Given the description of an element on the screen output the (x, y) to click on. 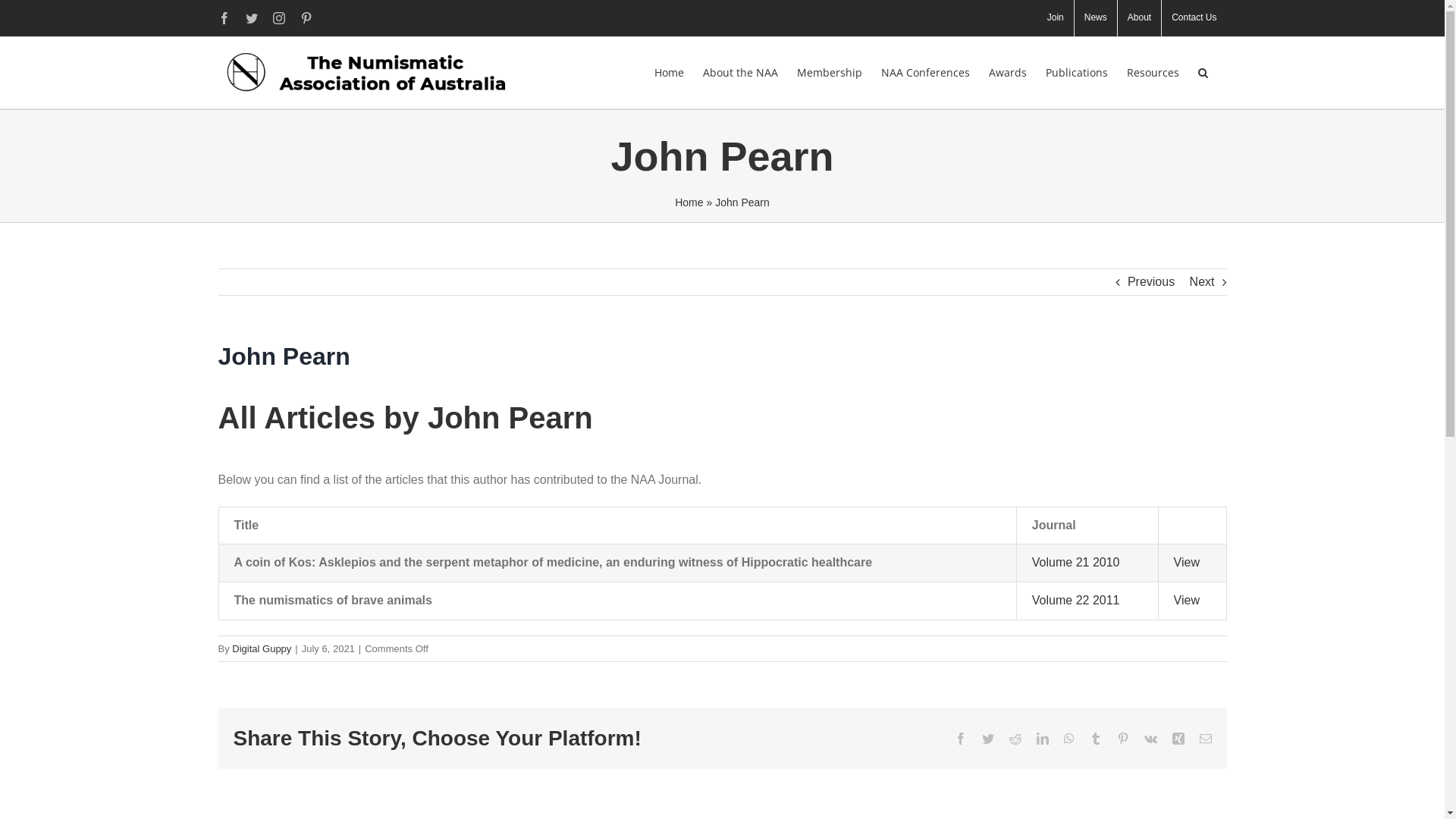
WhatsApp Element type: text (1068, 738)
Home Element type: text (668, 72)
LinkedIn Element type: text (1041, 738)
Xing Element type: text (1178, 738)
Pinterest Element type: text (306, 18)
News Element type: text (1095, 18)
Previous Element type: text (1150, 281)
Facebook Element type: text (959, 738)
Instagram Element type: text (279, 18)
About the NAA Element type: text (739, 72)
Twitter Element type: text (987, 738)
View Element type: text (1186, 561)
Vk Element type: text (1149, 738)
Reddit Element type: text (1014, 738)
NAA Conferences Element type: text (925, 72)
Digital Guppy Element type: text (261, 648)
Volume 22 2011 Element type: text (1076, 599)
Resources Element type: text (1152, 72)
Facebook Element type: text (224, 18)
Membership Element type: text (828, 72)
Join Element type: text (1055, 18)
Publications Element type: text (1075, 72)
Search Element type: hover (1203, 72)
Volume 21 2010 Element type: text (1076, 561)
Home Element type: text (688, 202)
Tumblr Element type: text (1094, 738)
Twitter Element type: text (251, 18)
Email Element type: text (1205, 738)
View Element type: text (1186, 599)
Next Element type: text (1201, 281)
Contact Us Element type: text (1193, 18)
About Element type: text (1139, 18)
Awards Element type: text (1007, 72)
Pinterest Element type: text (1122, 738)
